Given the description of an element on the screen output the (x, y) to click on. 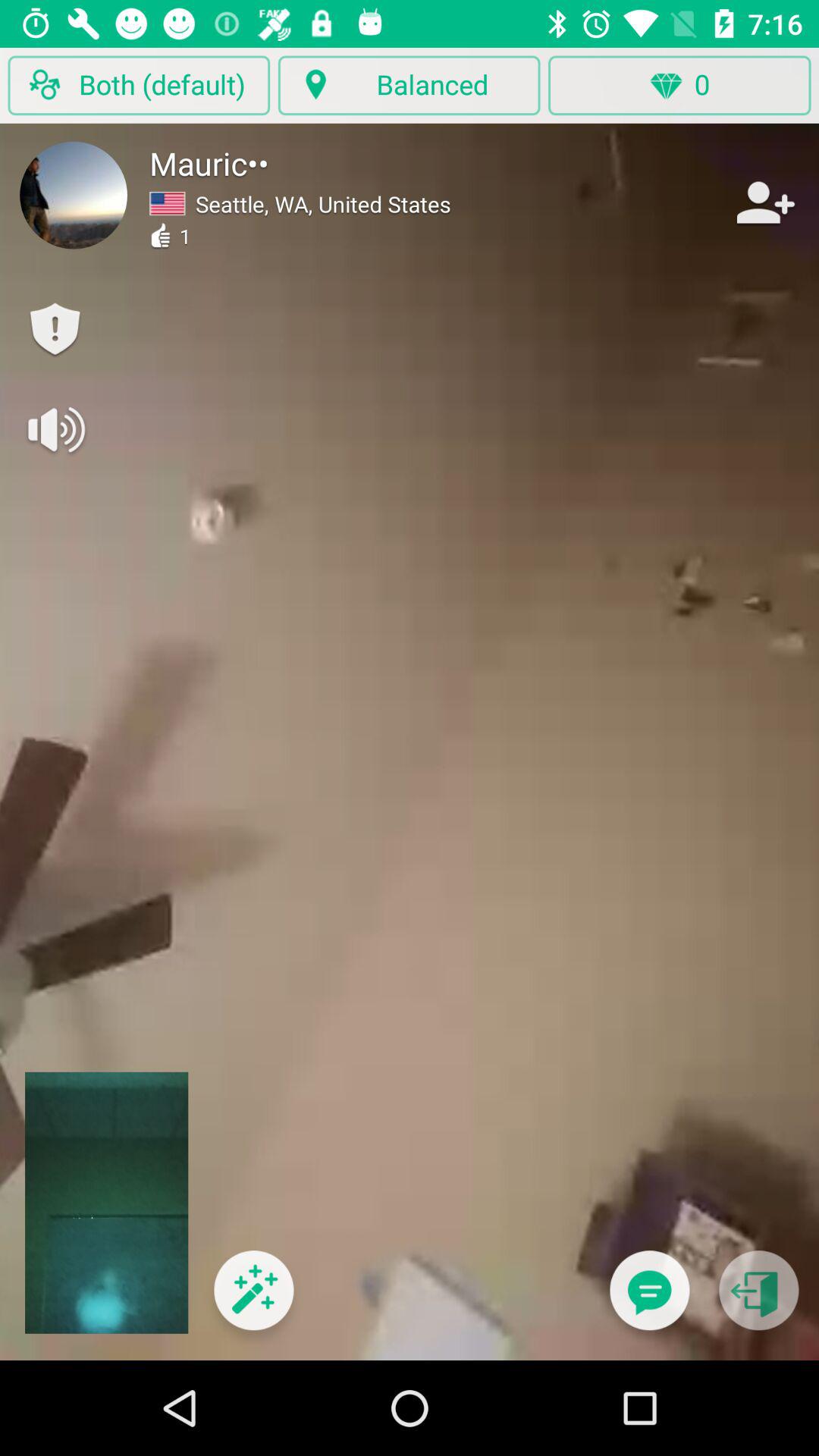
press the item to the right of the seattle wa united item (763, 202)
